Given the description of an element on the screen output the (x, y) to click on. 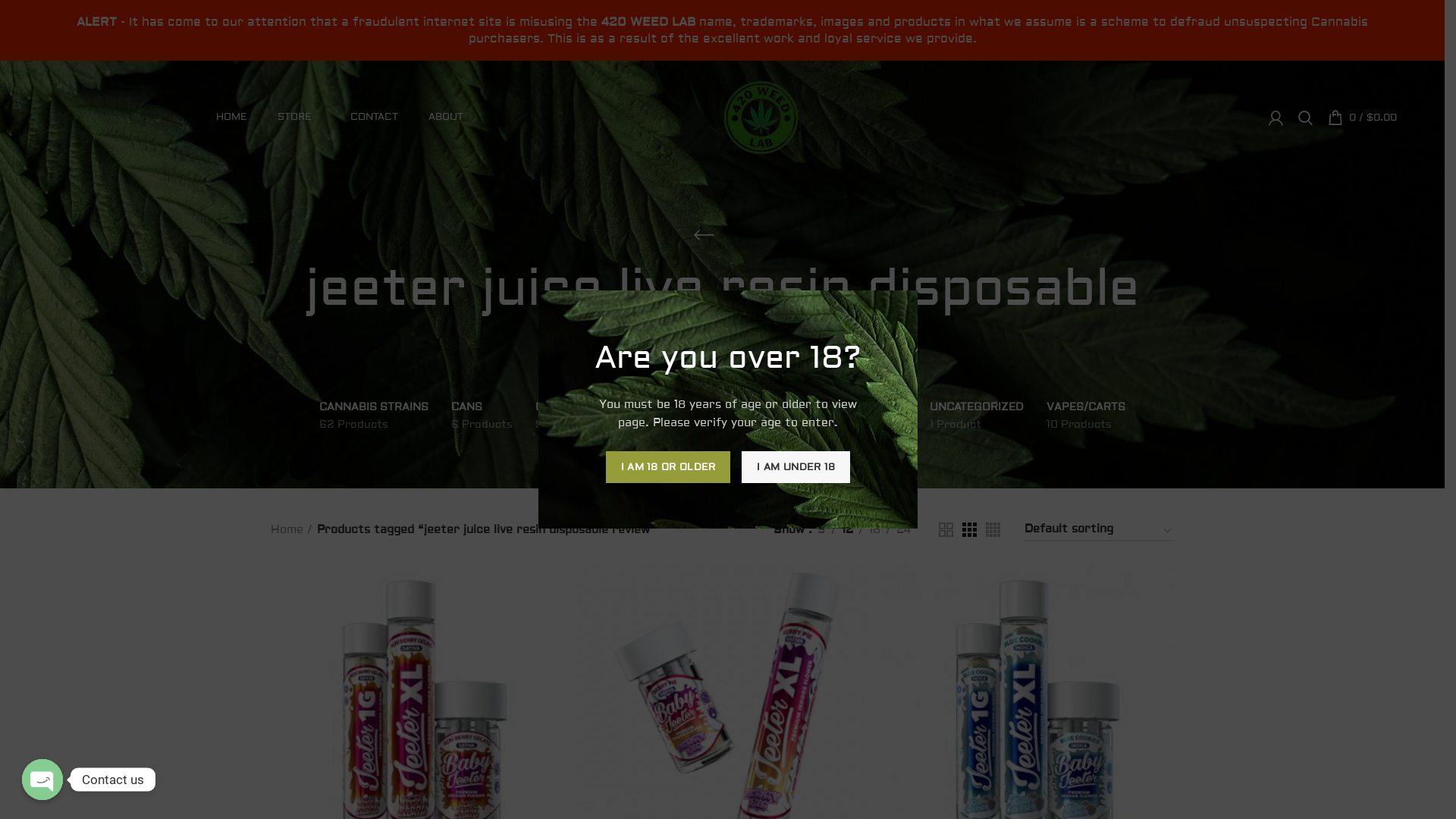
12 Element type: text (846, 529)
Search Element type: hover (1305, 117)
PSILOCOBIN CHOCOLATE BARS
10 Products Element type: text (821, 415)
CANS
6 Products Element type: text (481, 415)
CONTACT Element type: text (374, 117)
HOME Element type: text (231, 117)
VAPES/CARTS
10 Products Element type: text (1085, 415)
Home Element type: text (290, 529)
I AM UNDER 18 Element type: text (795, 467)
9 Element type: text (820, 529)
UNCATEGORIZED
1 Product Element type: text (976, 415)
18 Element type: text (873, 529)
CONCENTRATES
9 Products Element type: text (579, 415)
24 Element type: text (902, 529)
My account Element type: hover (1275, 117)
0 / $0.00 Element type: text (1362, 117)
STORE Element type: text (298, 117)
ABOUT Element type: text (445, 117)
JEETER
44 Products Element type: text (680, 415)
CANNABIS STRAINS
62 Products Element type: text (373, 415)
I AM 18 OR OLDER Element type: text (668, 467)
